Given the description of an element on the screen output the (x, y) to click on. 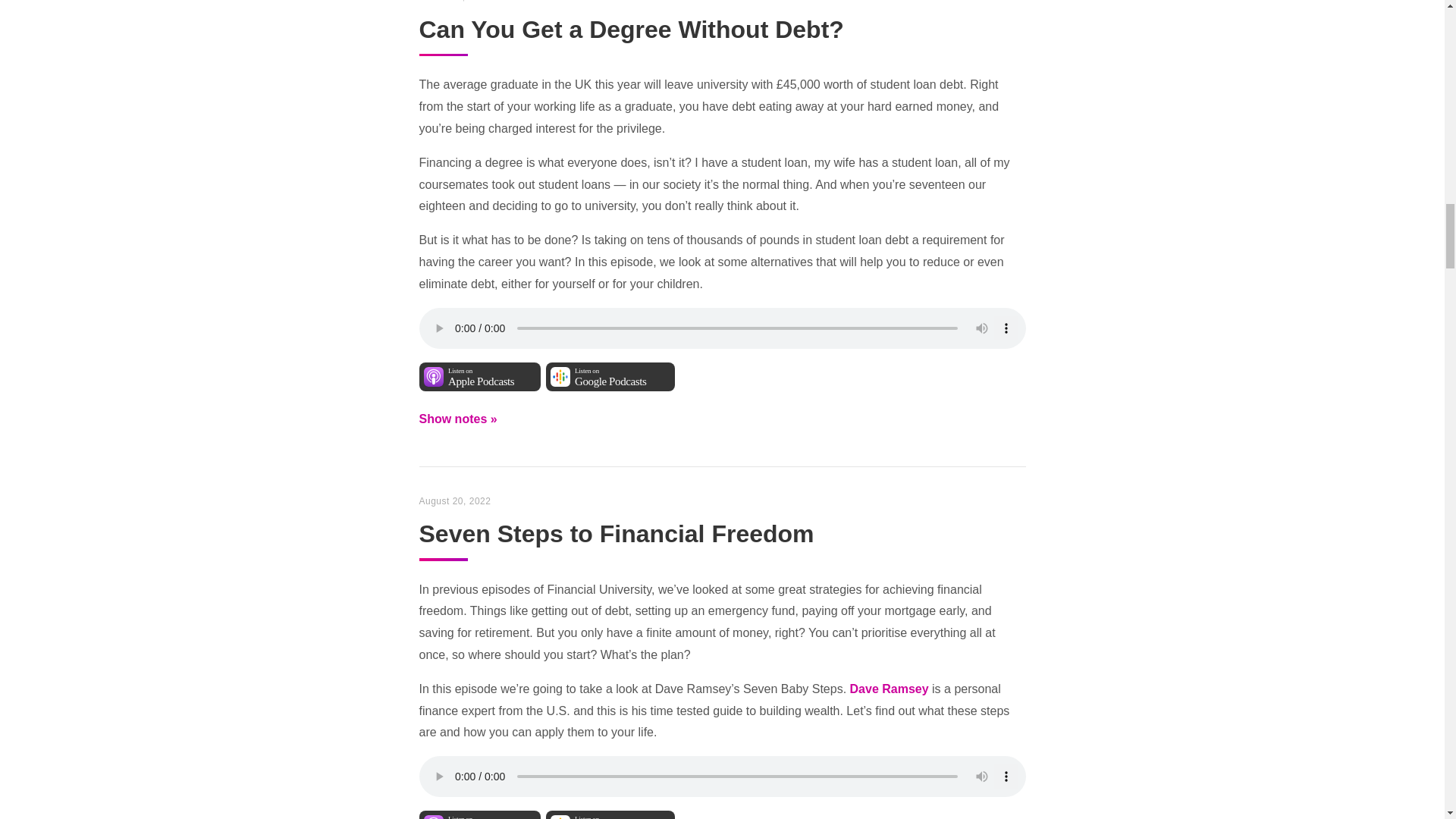
Seven Steps to Financial Freedom (479, 814)
Can You Get a Degree Without Debt? (610, 814)
Dave Ramsey (610, 376)
